Given the description of an element on the screen output the (x, y) to click on. 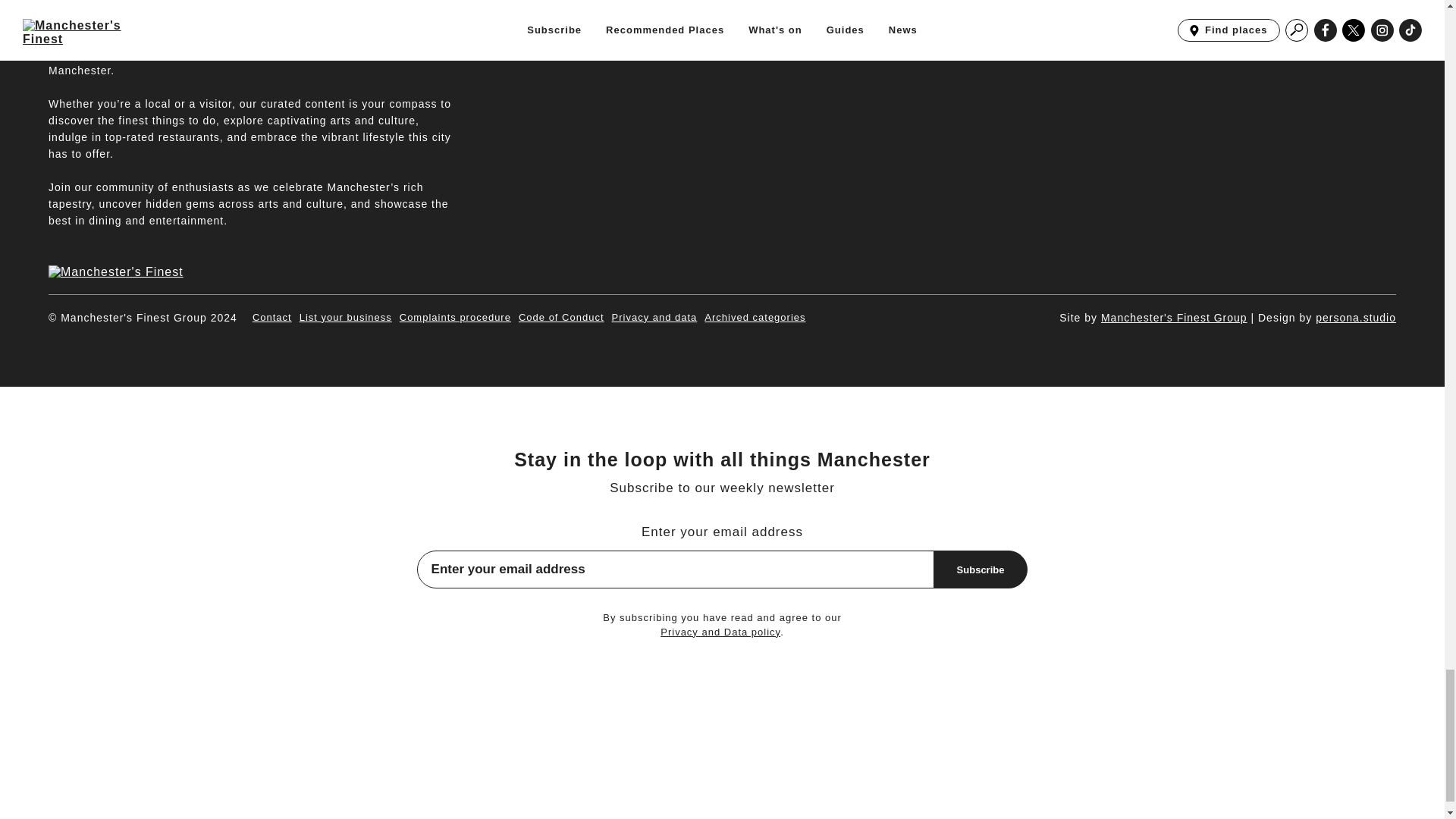
Go to Manchester's Finest Facebook page (1280, 15)
Go to Manchester's Finest TikTok profile (1383, 15)
Go to Manchester's Finest Instagram profile (1349, 15)
Go to Manchester's Finest X profile (1315, 15)
